Given the description of an element on the screen output the (x, y) to click on. 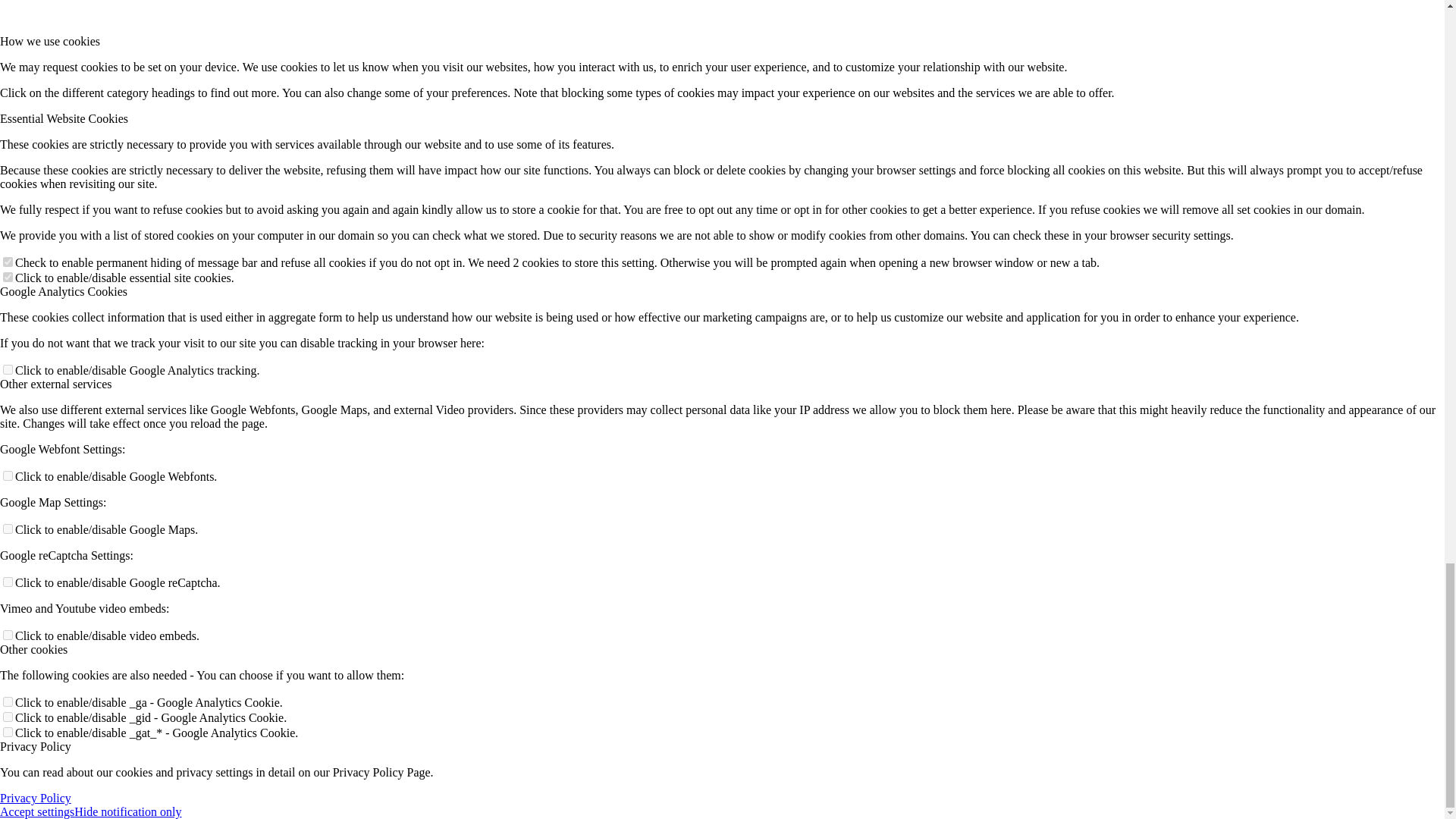
on (7, 701)
on (7, 528)
on (7, 716)
on (7, 475)
on (7, 369)
on (7, 582)
on (7, 634)
on (7, 732)
